Given the description of an element on the screen output the (x, y) to click on. 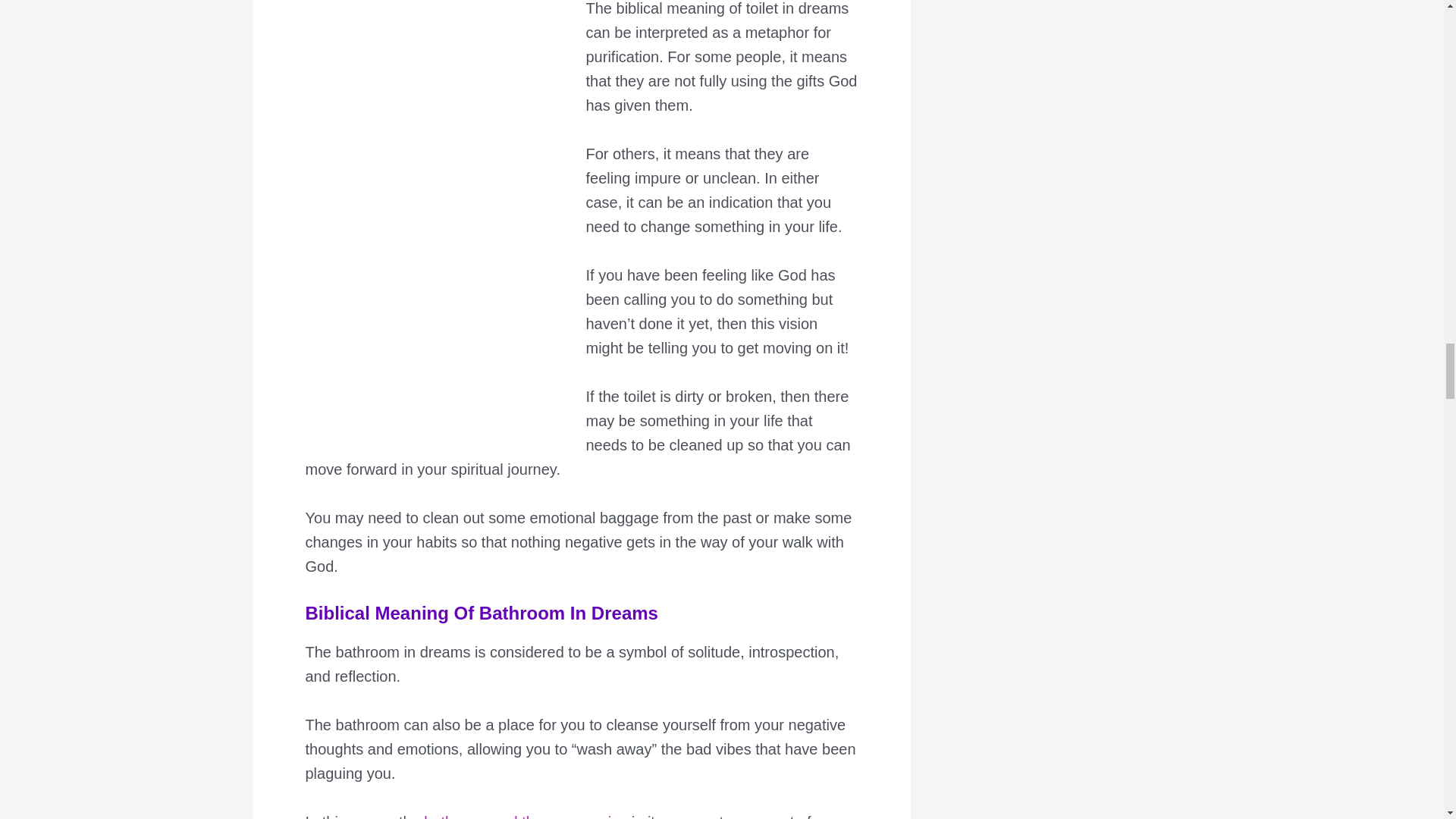
bathroom and the accessories (525, 816)
